Given the description of an element on the screen output the (x, y) to click on. 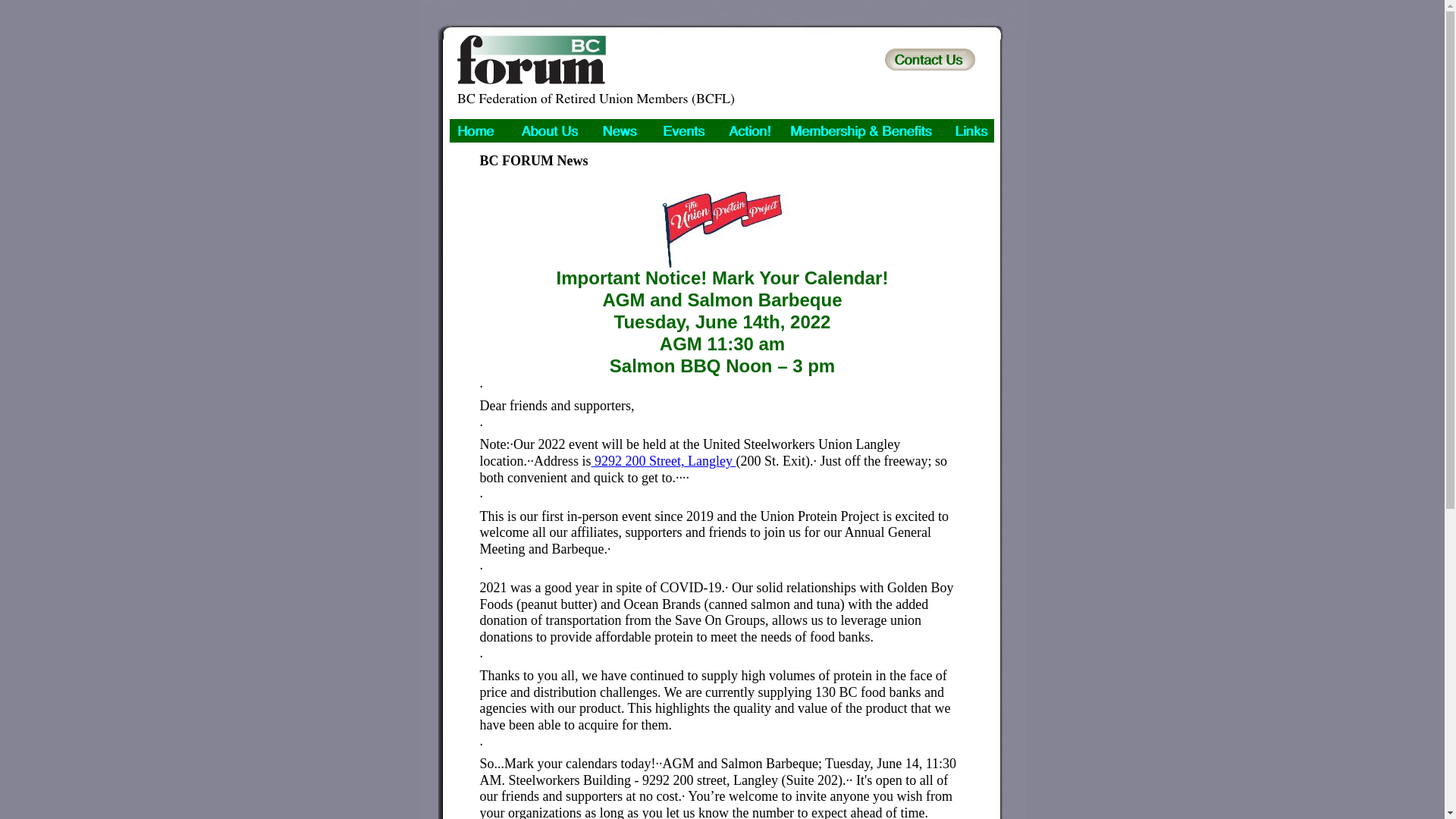
9292 200 Street, Langley Element type: text (662, 460)
